Given the description of an element on the screen output the (x, y) to click on. 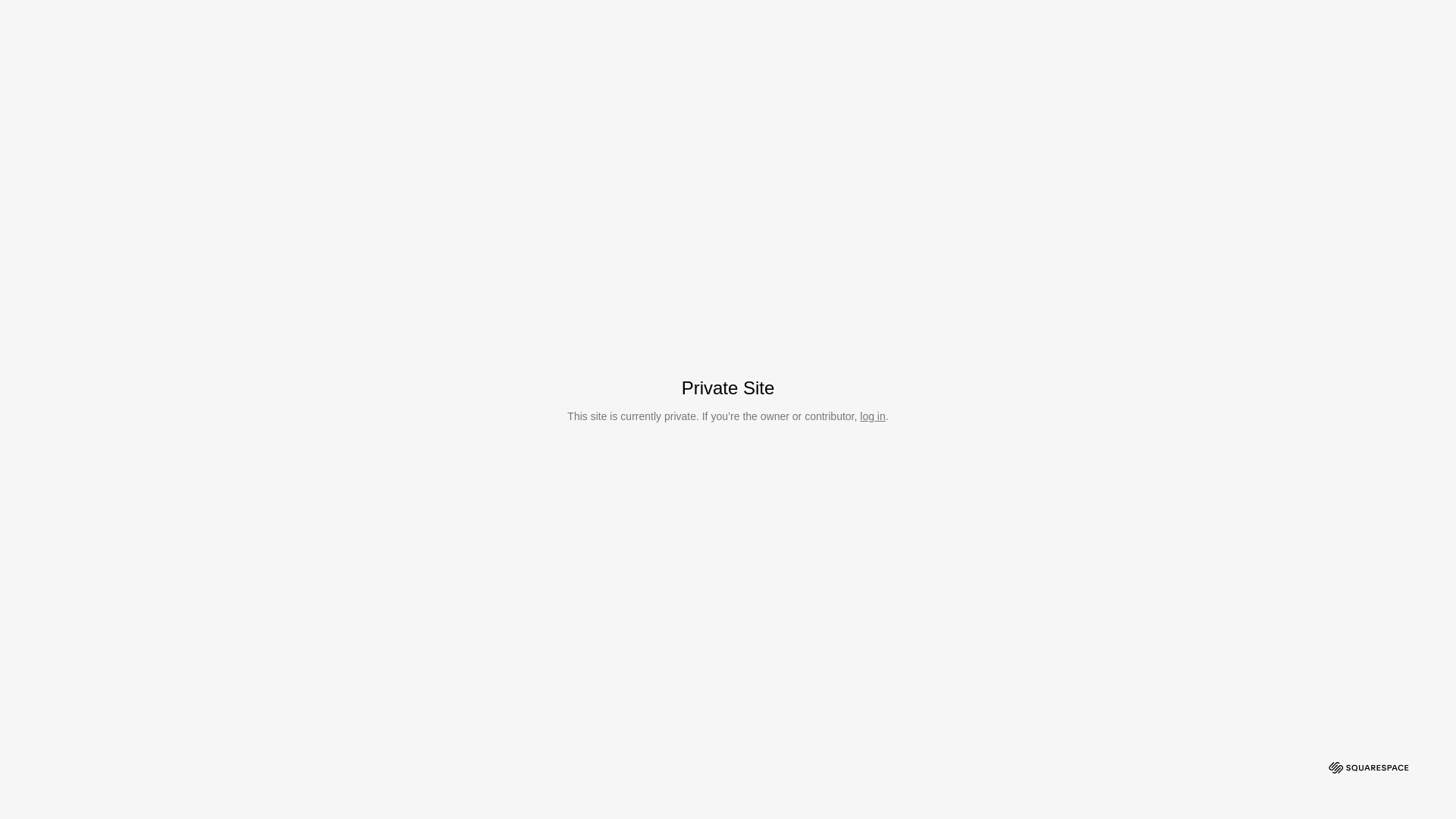
log in Element type: text (871, 416)
